Given the description of an element on the screen output the (x, y) to click on. 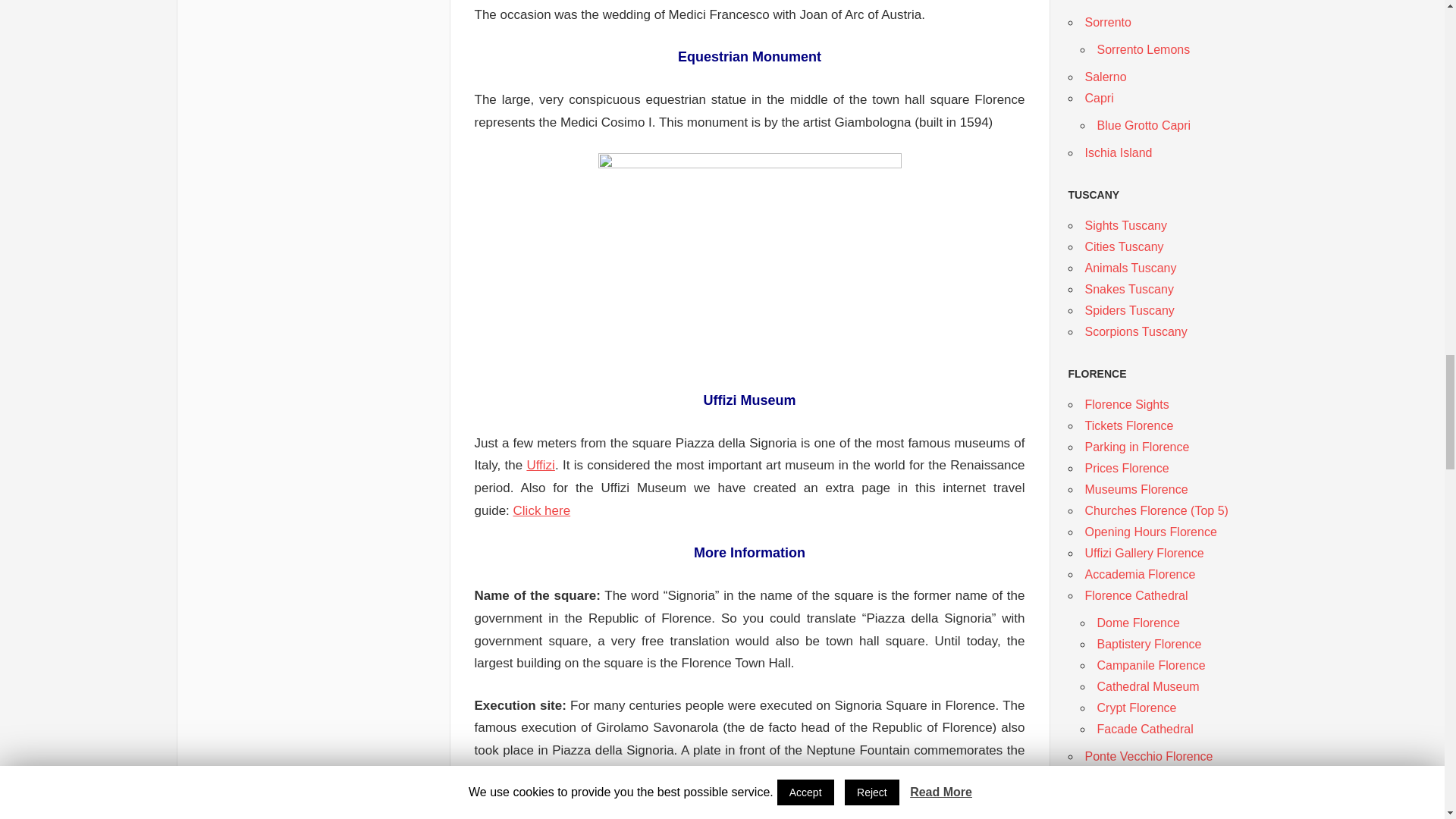
Click here (541, 510)
Uffizi (539, 464)
